Given the description of an element on the screen output the (x, y) to click on. 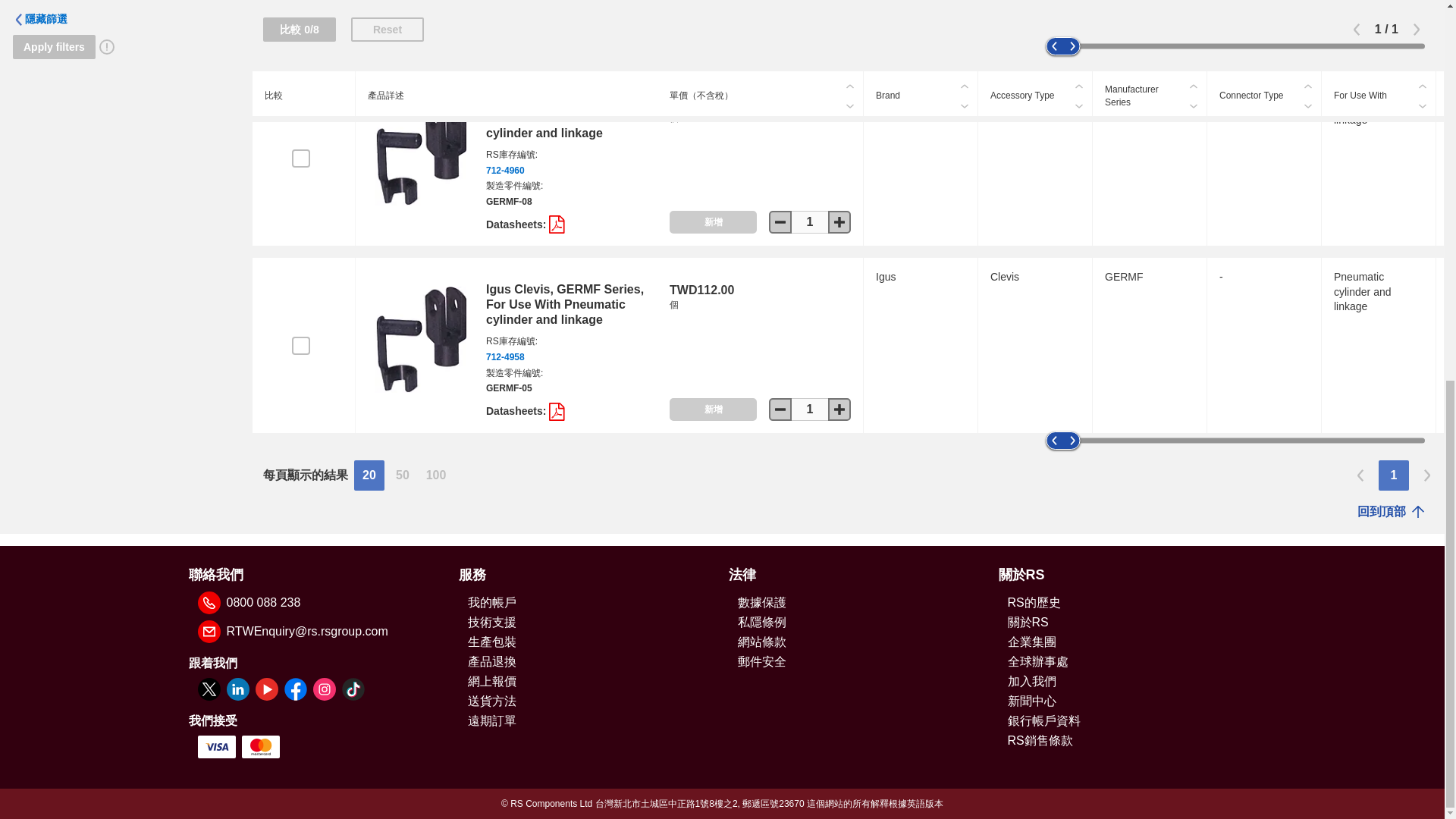
1 (810, 409)
1 (810, 221)
1 (810, 35)
on (299, 158)
on (299, 345)
